Given the description of an element on the screen output the (x, y) to click on. 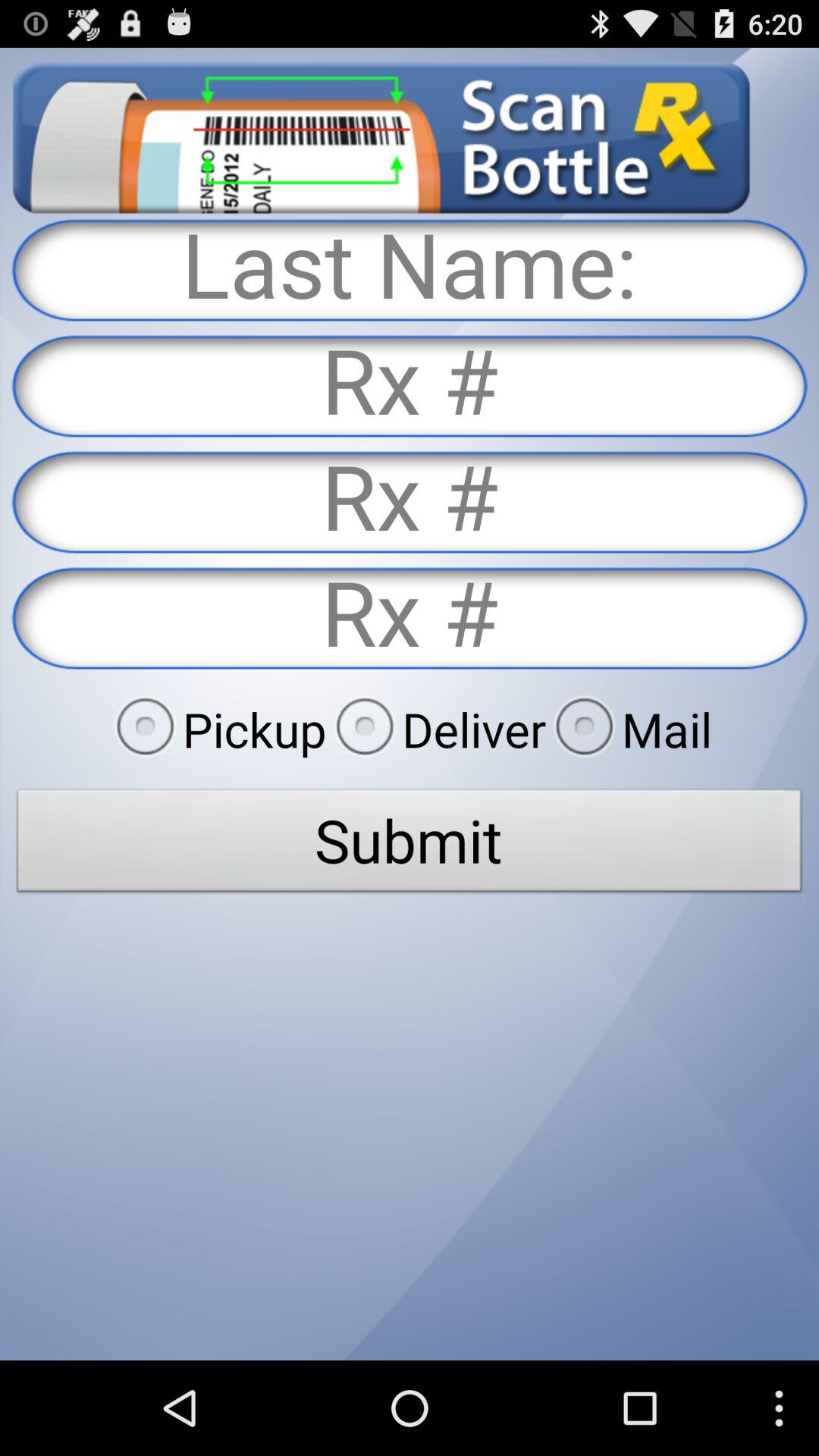
click the radio button next to the deliver (216, 728)
